Given the description of an element on the screen output the (x, y) to click on. 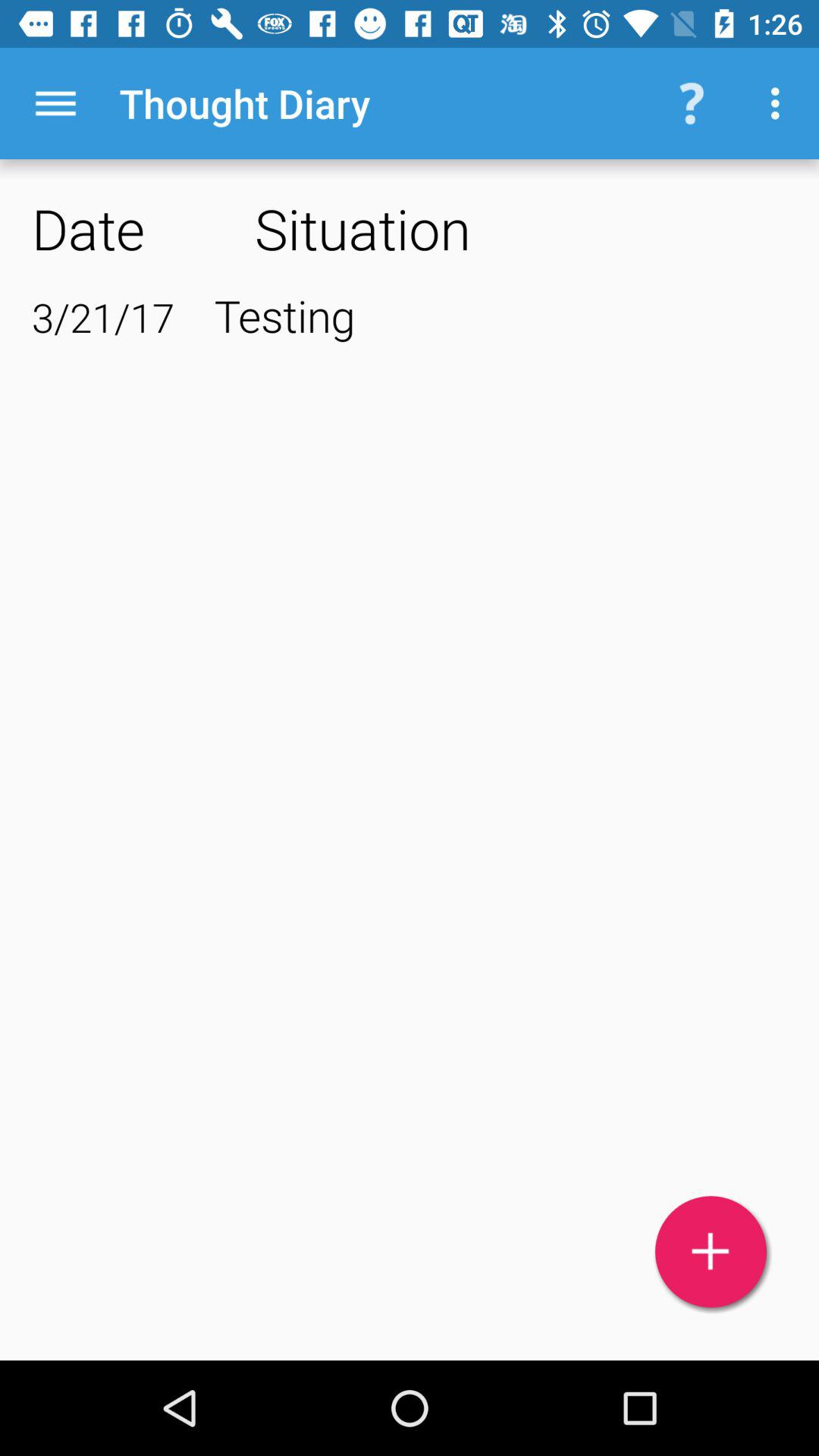
open the icon next to testing (102, 316)
